Given the description of an element on the screen output the (x, y) to click on. 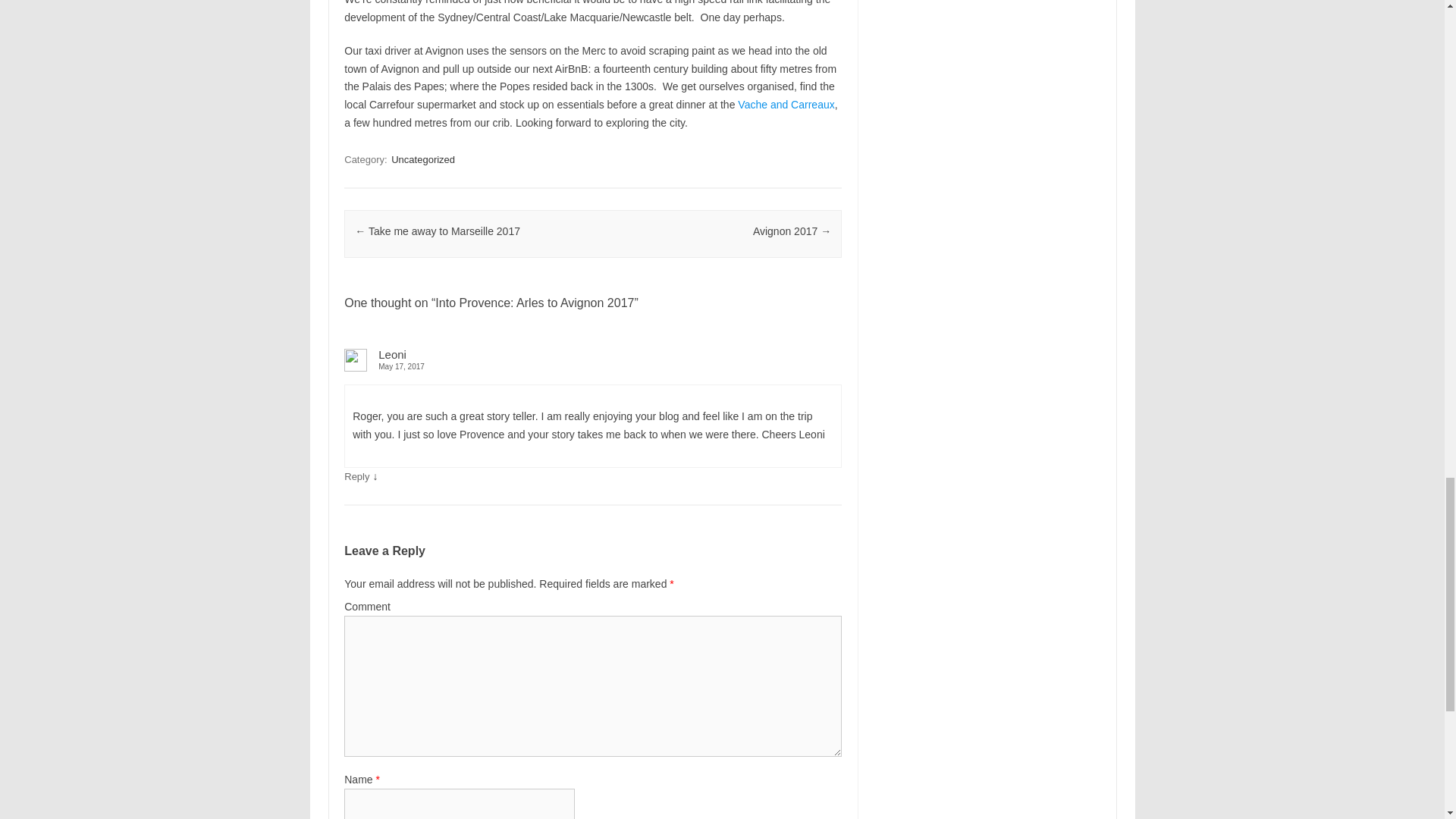
Uncategorized (423, 159)
Vache and Carreaux (786, 104)
May 17, 2017 (592, 366)
Reply (356, 476)
